Given the description of an element on the screen output the (x, y) to click on. 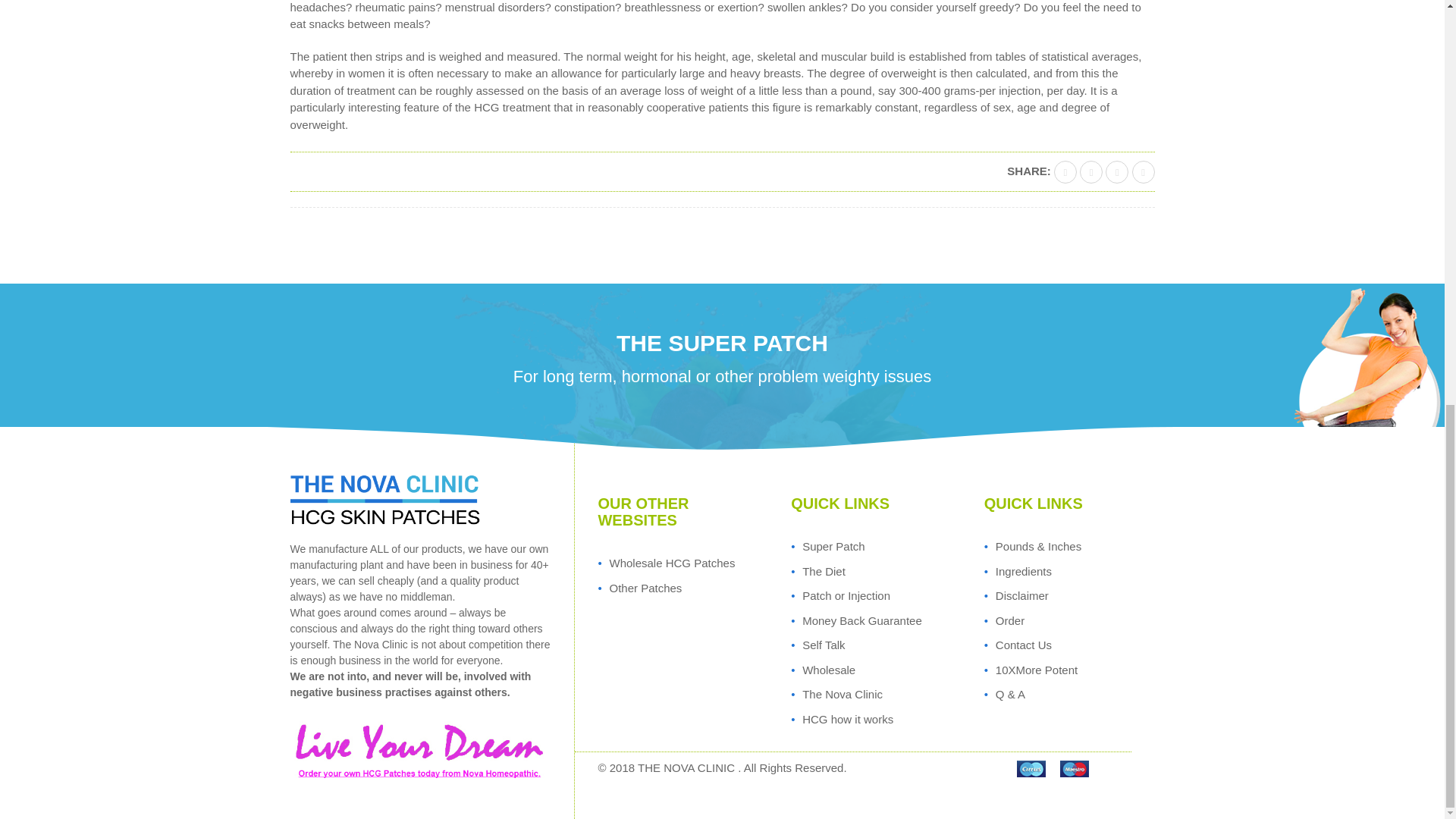
The Diet (823, 571)
Other Patches (644, 587)
Super Patch (833, 545)
Patch or Injection (845, 594)
Self Talk (823, 644)
Money Back Guarantee (861, 620)
Wholesale HCG Patches (671, 562)
THE SUPER PATCH (721, 342)
